Given the description of an element on the screen output the (x, y) to click on. 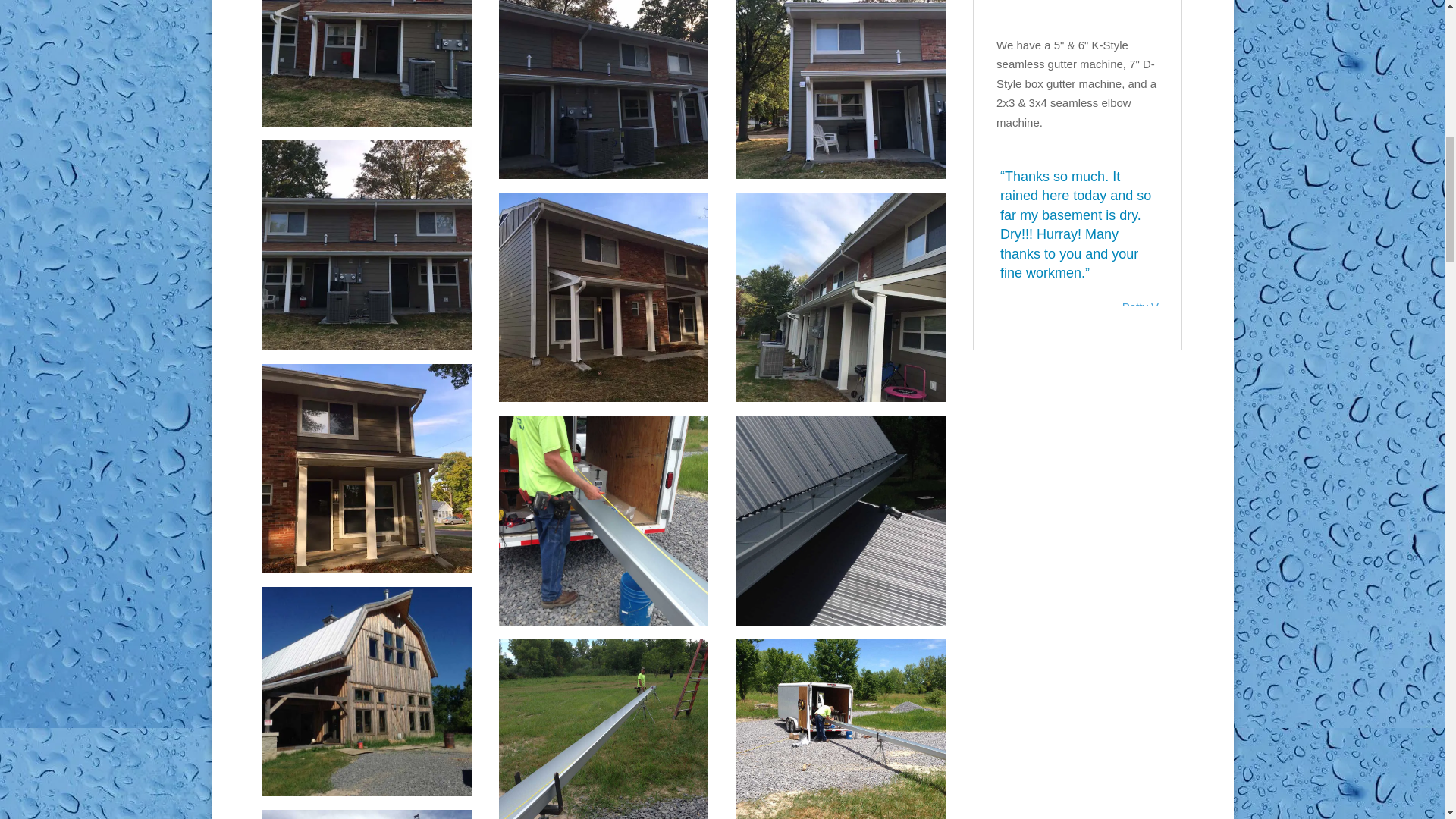
clinton seamless gutters (366, 122)
